Given the description of an element on the screen output the (x, y) to click on. 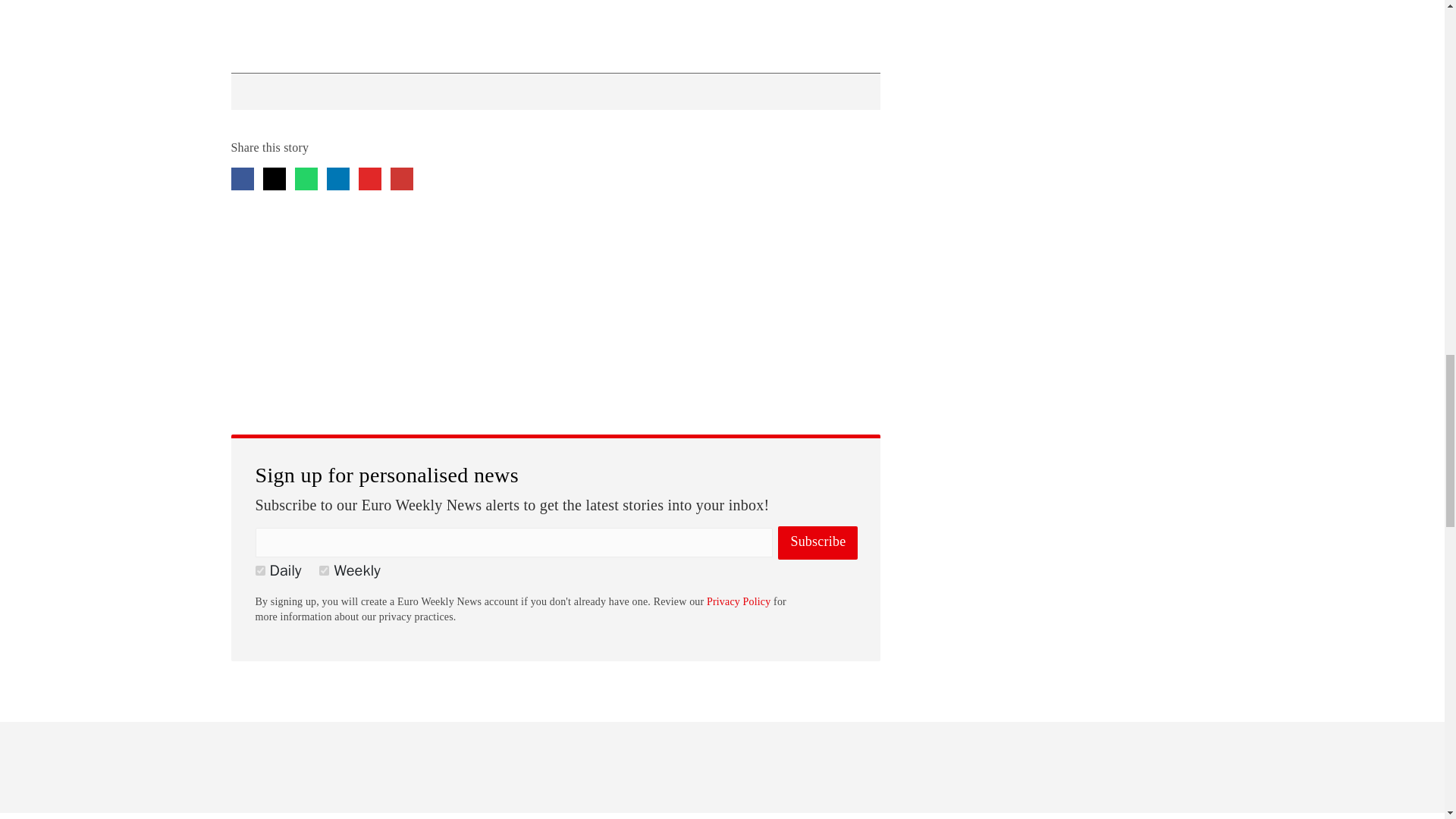
Subscribe (817, 542)
6 (259, 570)
7 (323, 570)
